Given the description of an element on the screen output the (x, y) to click on. 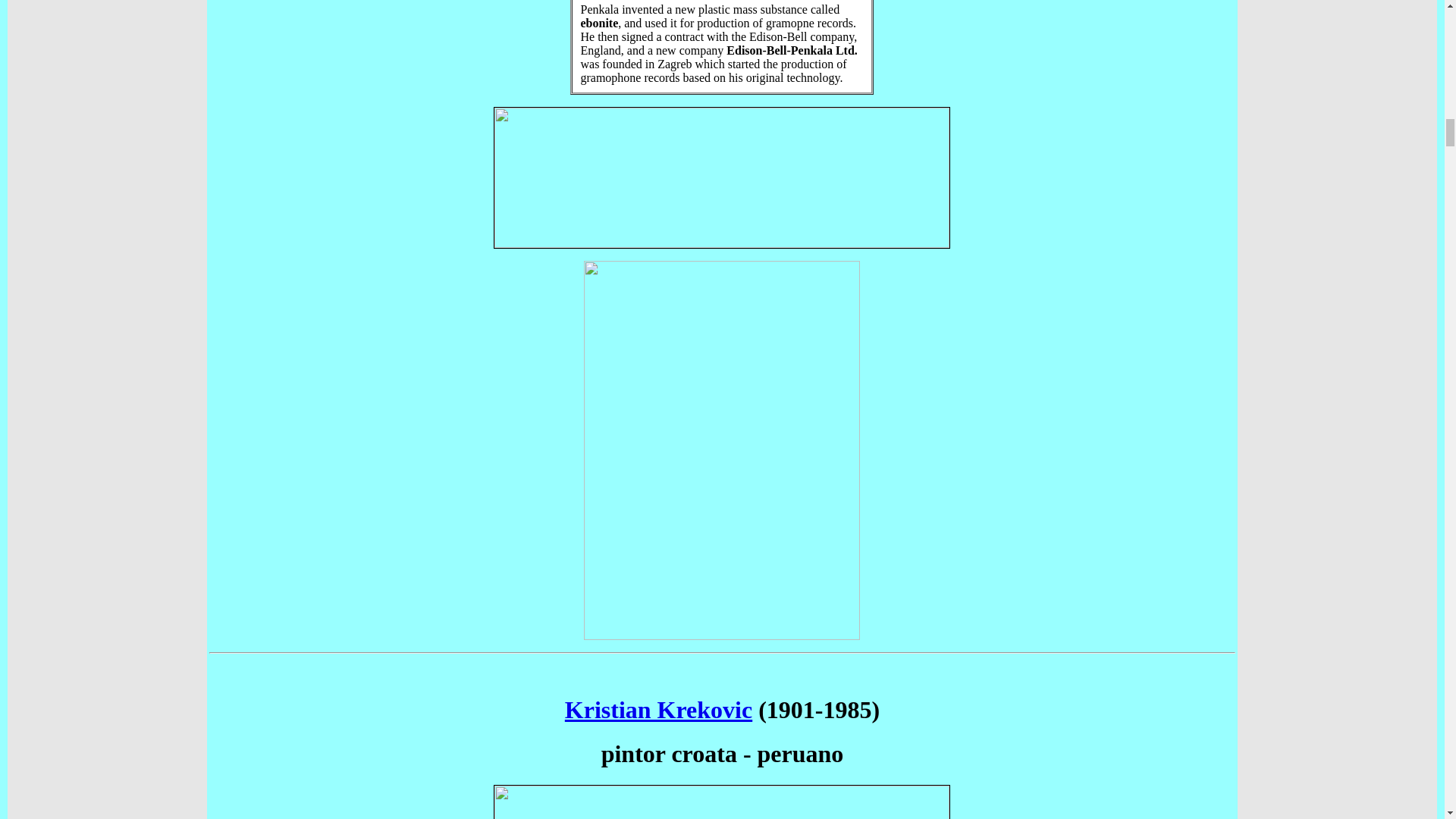
Kristian Krekovic (658, 709)
